Given the description of an element on the screen output the (x, y) to click on. 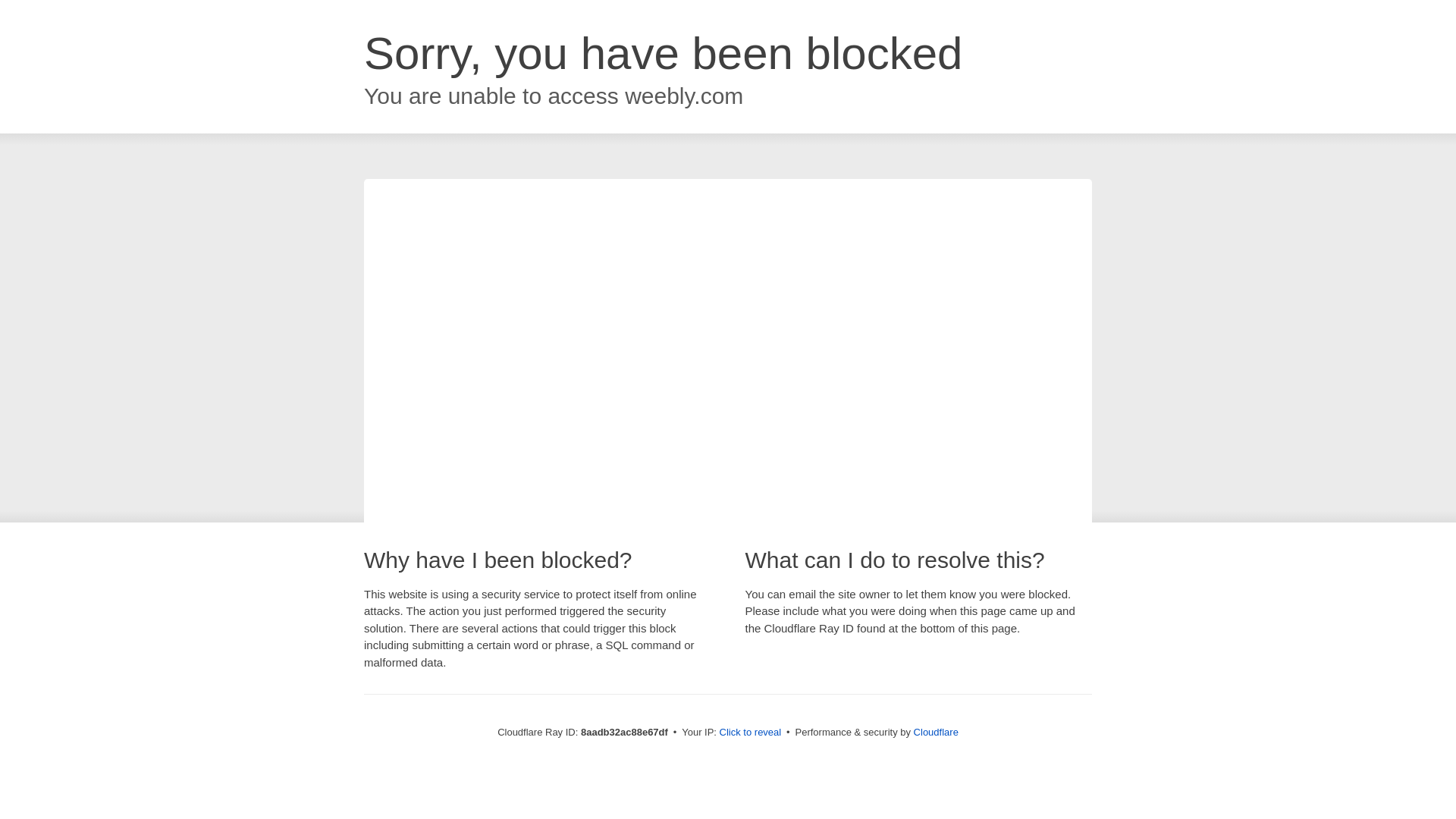
Click to reveal (750, 732)
Cloudflare (936, 731)
